Given the description of an element on the screen output the (x, y) to click on. 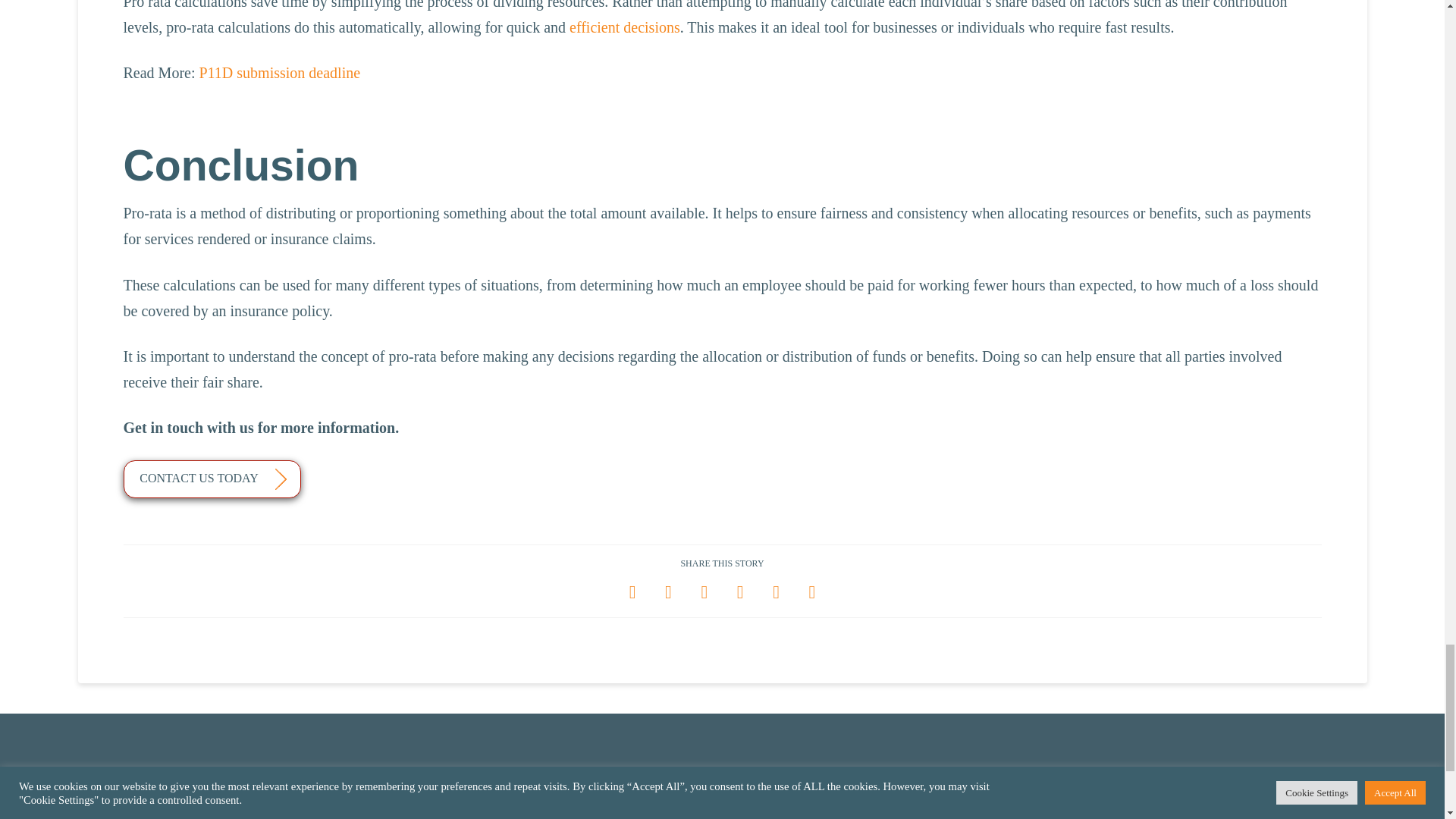
Contact us today (210, 478)
